Given the description of an element on the screen output the (x, y) to click on. 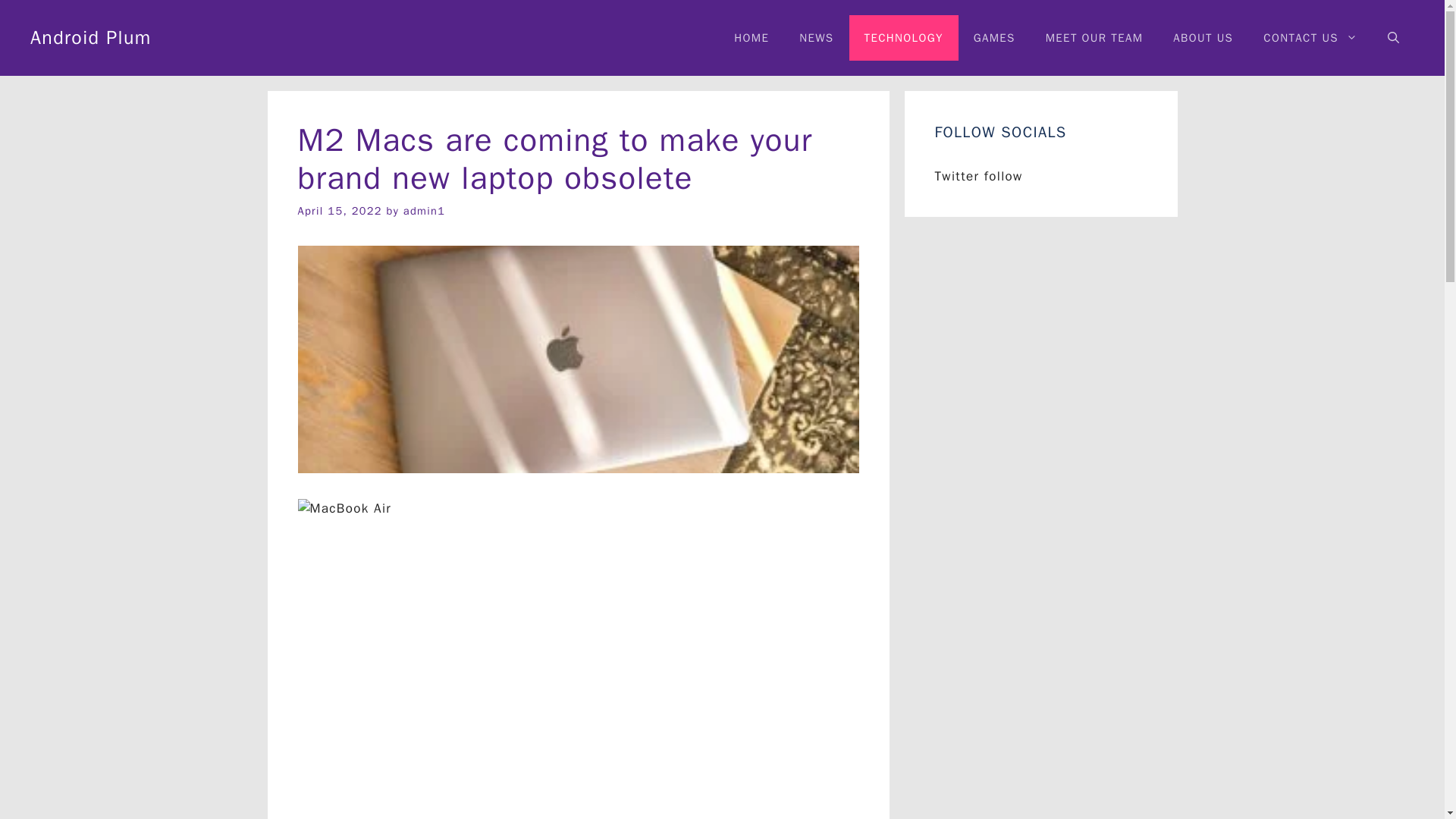
GAMES (994, 37)
Android Plum (90, 37)
ABOUT US (1202, 37)
CONTACT US (1310, 37)
NEWS (816, 37)
MEET OUR TEAM (1094, 37)
TECHNOLOGY (903, 37)
View all posts by admin1 (424, 210)
admin1 (424, 210)
HOME (751, 37)
